Given the description of an element on the screen output the (x, y) to click on. 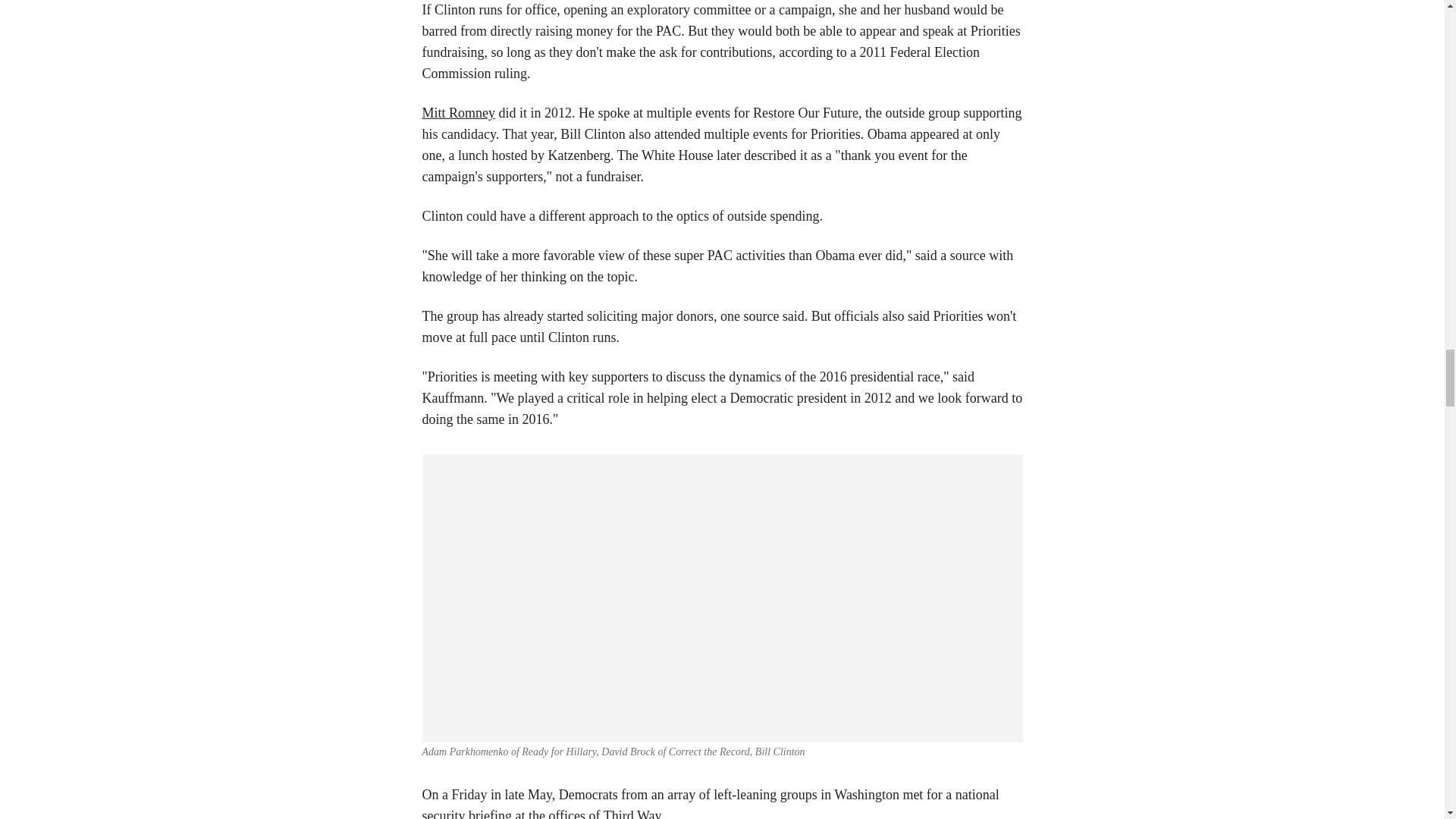
Mitt Romney (458, 112)
